Given the description of an element on the screen output the (x, y) to click on. 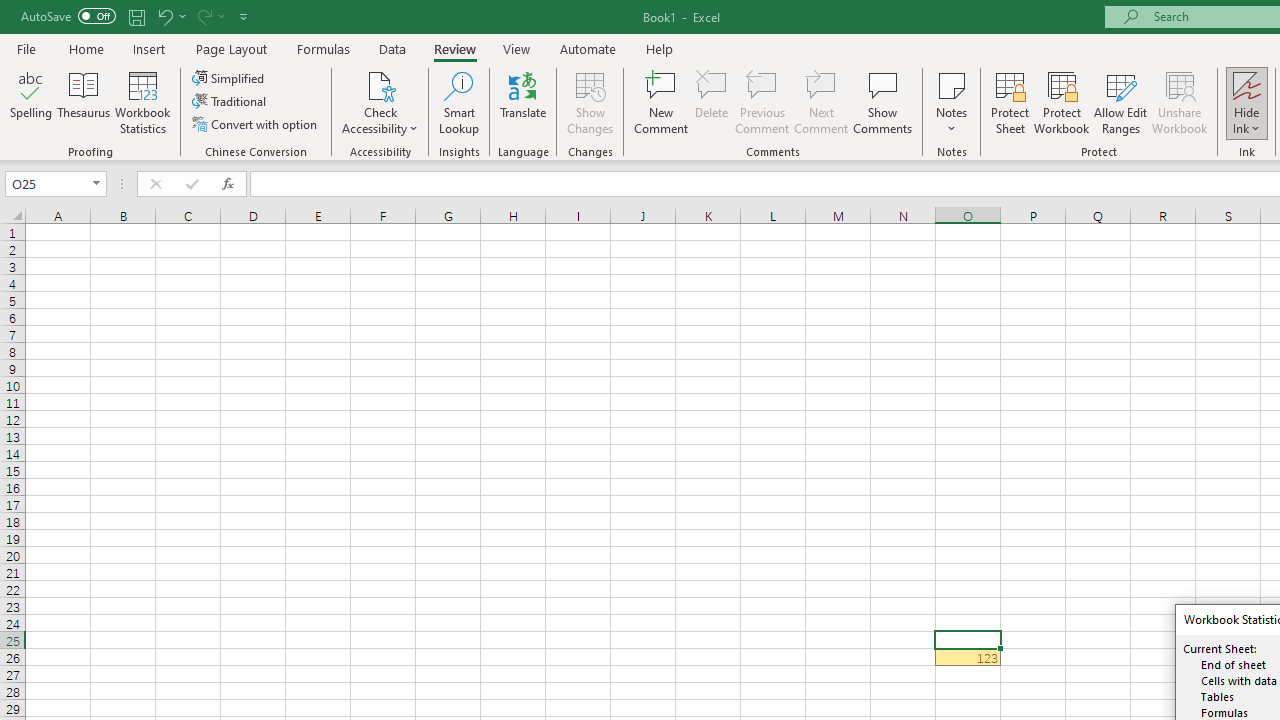
Name Box (46, 183)
Undo (164, 15)
Automate (588, 48)
Translate (523, 102)
Notes (951, 102)
Customize Quick Access Toolbar (244, 15)
Traditional (230, 101)
Quick Access Toolbar (136, 16)
Redo (203, 15)
Allow Edit Ranges (1120, 102)
More Options (1247, 121)
Show Comments (883, 102)
AutoSave (68, 16)
Thesaurus... (83, 102)
New Comment (661, 102)
